Given the description of an element on the screen output the (x, y) to click on. 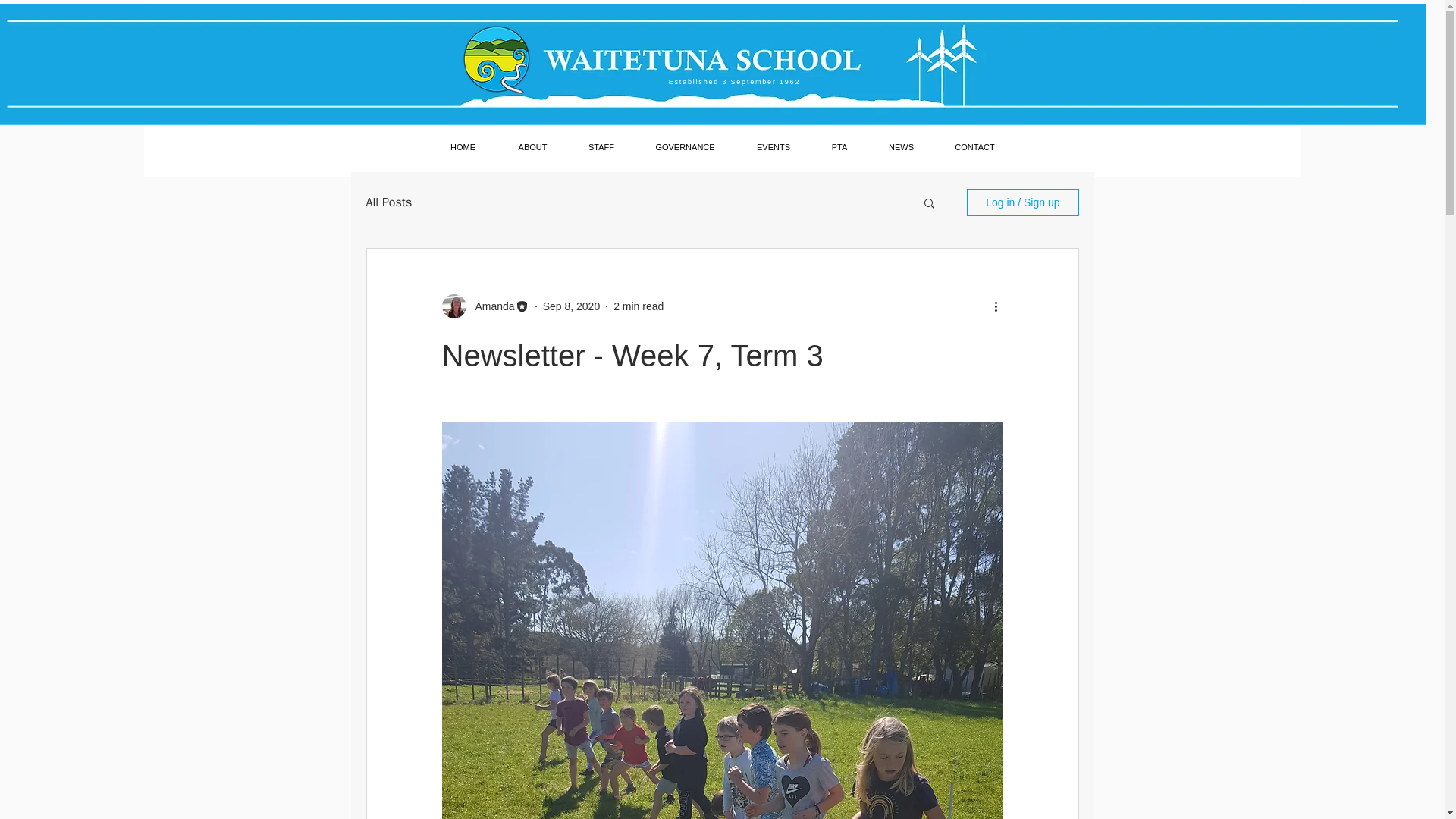
NEWS (900, 147)
2 min read (637, 306)
CONTACT (974, 147)
EVENTS (772, 147)
GOVERNANCE (684, 147)
Amanda (489, 306)
ABOUT (533, 147)
PTA (838, 147)
HOME (463, 147)
Sep 8, 2020 (571, 306)
